Given the description of an element on the screen output the (x, y) to click on. 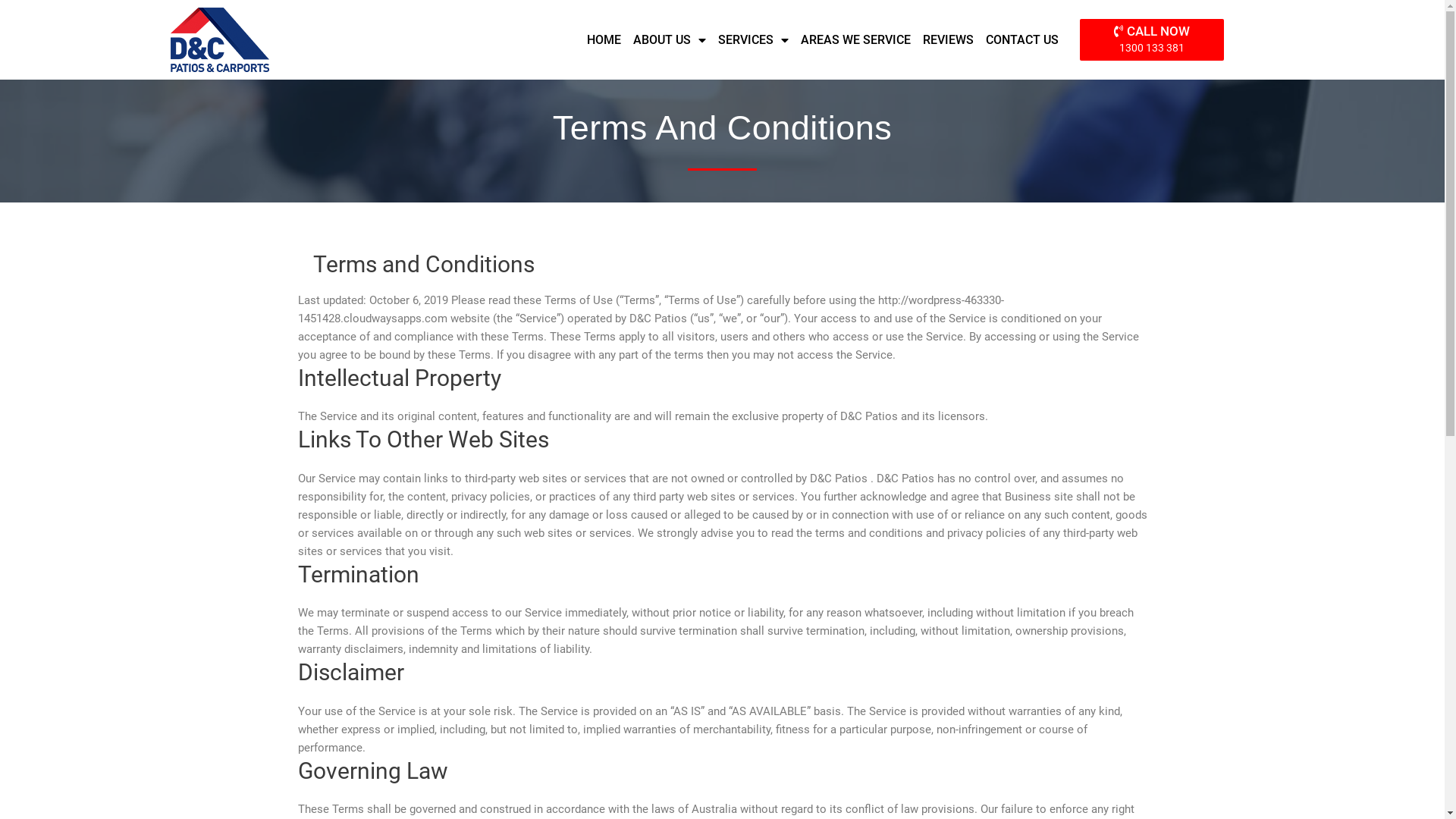
SERVICES Element type: text (753, 39)
CONTACT US Element type: text (1021, 39)
CALL NOW
1300 133 381 Element type: text (1151, 38)
AREAS WE SERVICE Element type: text (855, 39)
HOME Element type: text (603, 39)
REVIEWS Element type: text (947, 39)
ABOUT US Element type: text (669, 39)
